Given the description of an element on the screen output the (x, y) to click on. 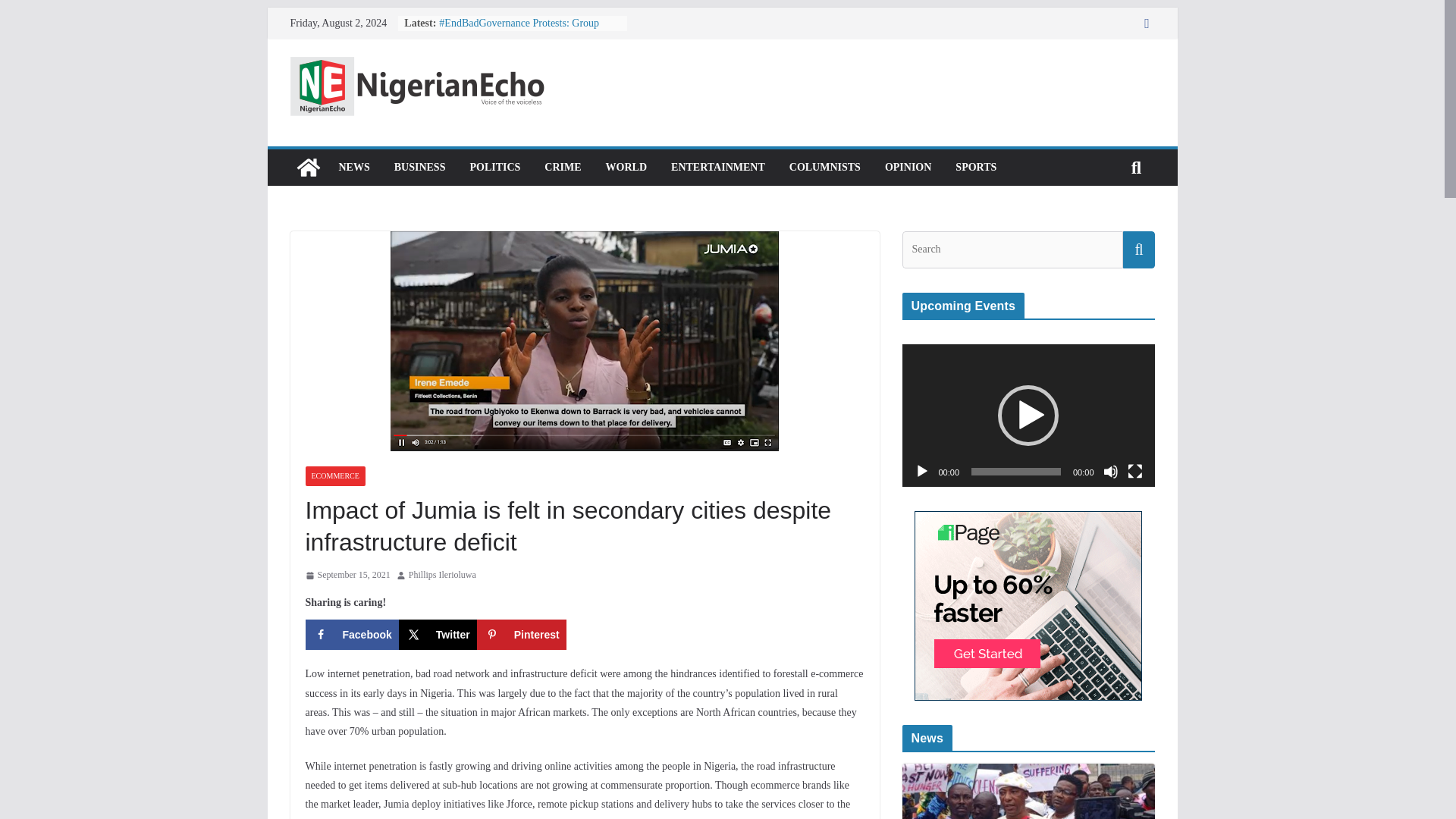
September 15, 2021 (347, 575)
CRIME (562, 167)
ENTERTAINMENT (718, 167)
Phillips Ilerioluwa (442, 575)
POLITICS (493, 167)
ECOMMERCE (334, 476)
OPINION (908, 167)
COLUMNISTS (824, 167)
Save to Pinterest (521, 634)
Pinterest (521, 634)
Share on Facebook (350, 634)
Phillips Ilerioluwa (442, 575)
Share on X (437, 634)
NEWS (353, 167)
